Given the description of an element on the screen output the (x, y) to click on. 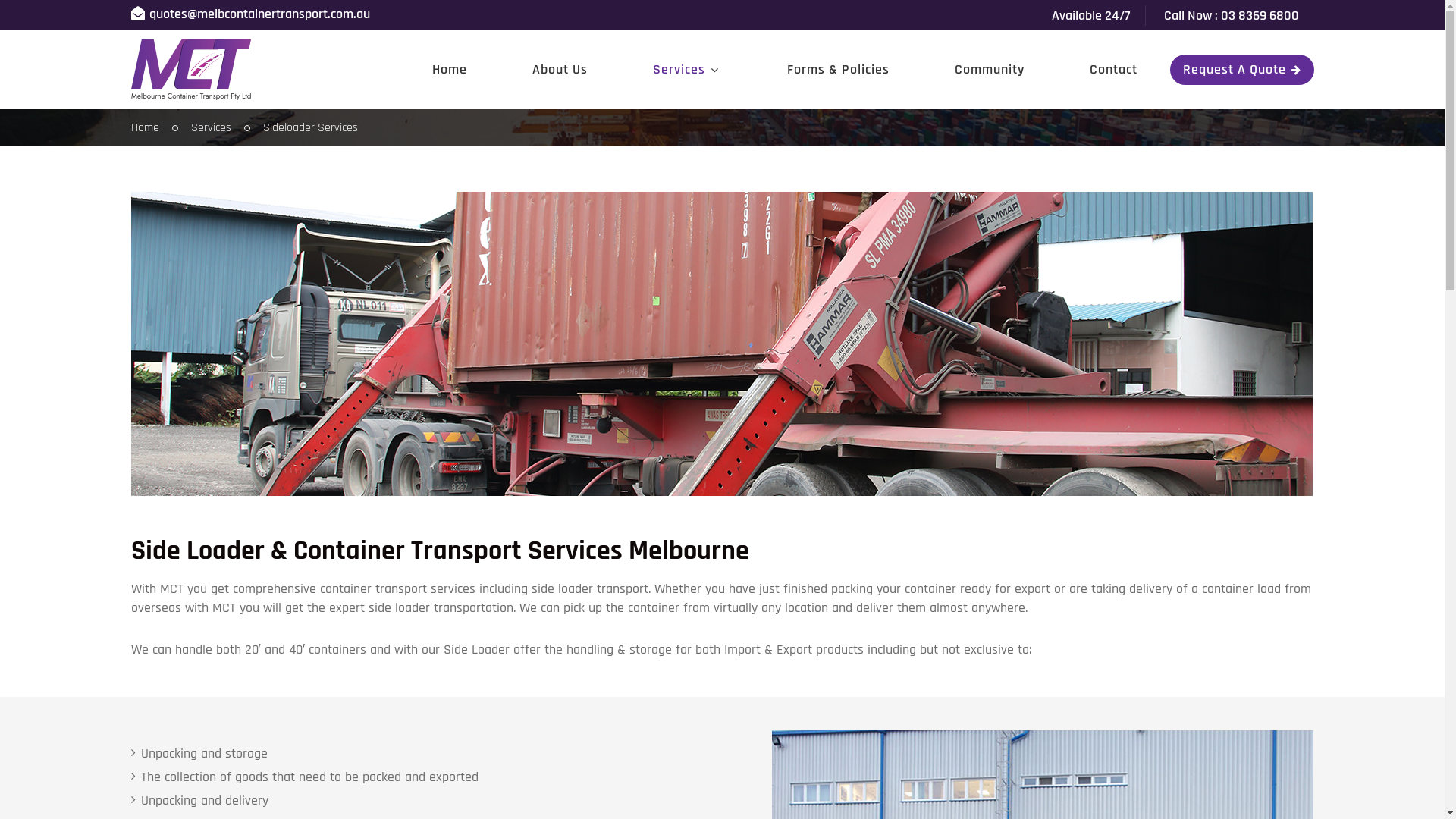
Community Element type: text (989, 69)
quotes@melbcontainertransport.com.au Element type: text (258, 13)
03 8369 6800 Element type: text (1259, 15)
About Us Element type: text (558, 69)
Forms & Policies Element type: text (837, 69)
Unpacking and delivery Element type: text (204, 800)
Home Element type: text (448, 69)
Services Element type: text (211, 128)
Services Element type: text (687, 69)
Home Element type: text (144, 128)
Request A Quote Element type: text (1241, 69)
Contact Element type: text (1113, 69)
